Given the description of an element on the screen output the (x, y) to click on. 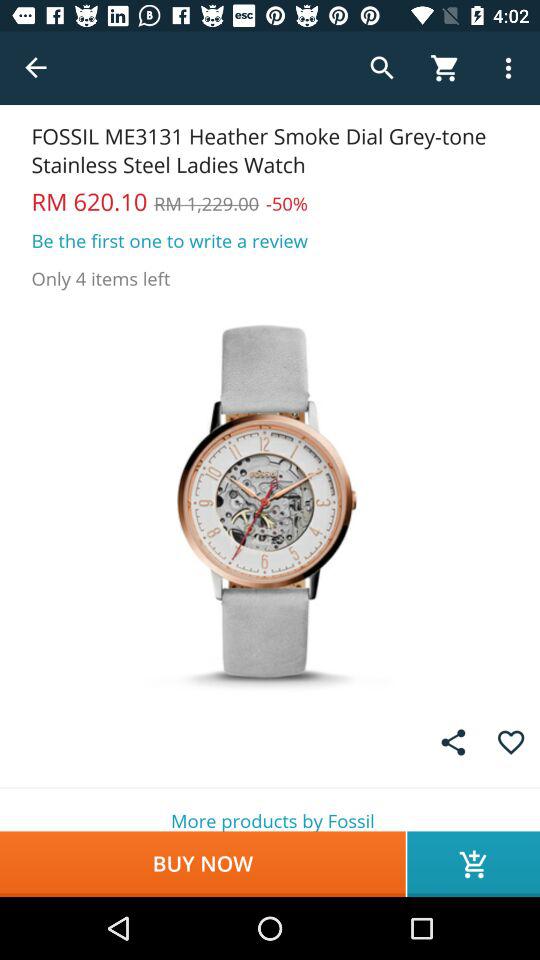
choose the item above the fossil me3131 heather item (36, 68)
